Given the description of an element on the screen output the (x, y) to click on. 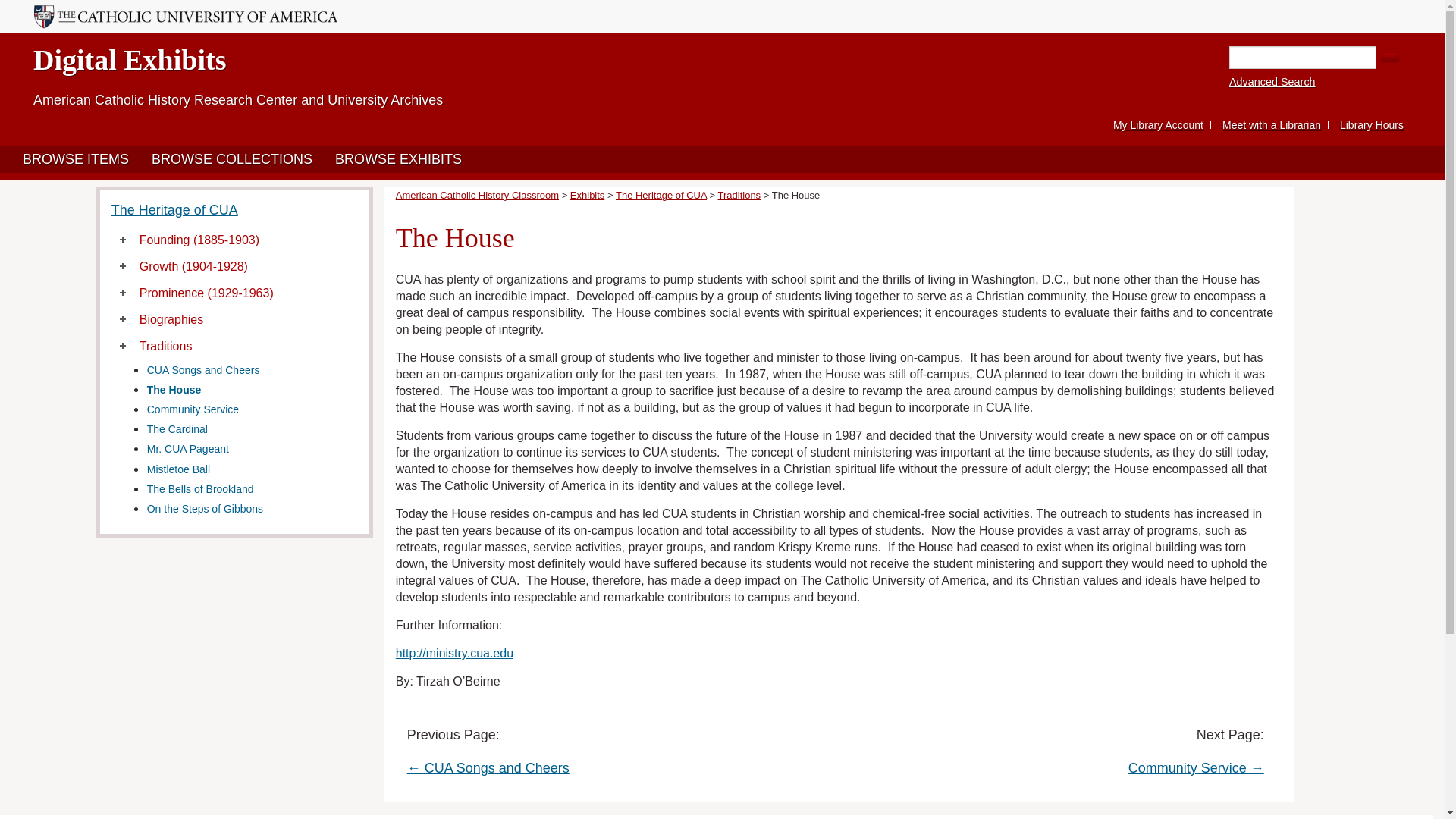
Mr. CUA Pageant (187, 449)
CUA Songs and Cheers (203, 369)
The Bells of Brookland (200, 489)
Digital Exhibits (129, 60)
The Heritage of CUA (175, 209)
Traditions (165, 345)
American Catholic History Classroom (477, 194)
BROWSE ITEMS (75, 158)
BROWSE COLLECTIONS (231, 158)
Meet with a Librarian (1270, 124)
Biographies (171, 318)
The Cardinal (177, 428)
Community Service (192, 409)
Mistletoe Ball (178, 469)
Submit (1389, 57)
